Given the description of an element on the screen output the (x, y) to click on. 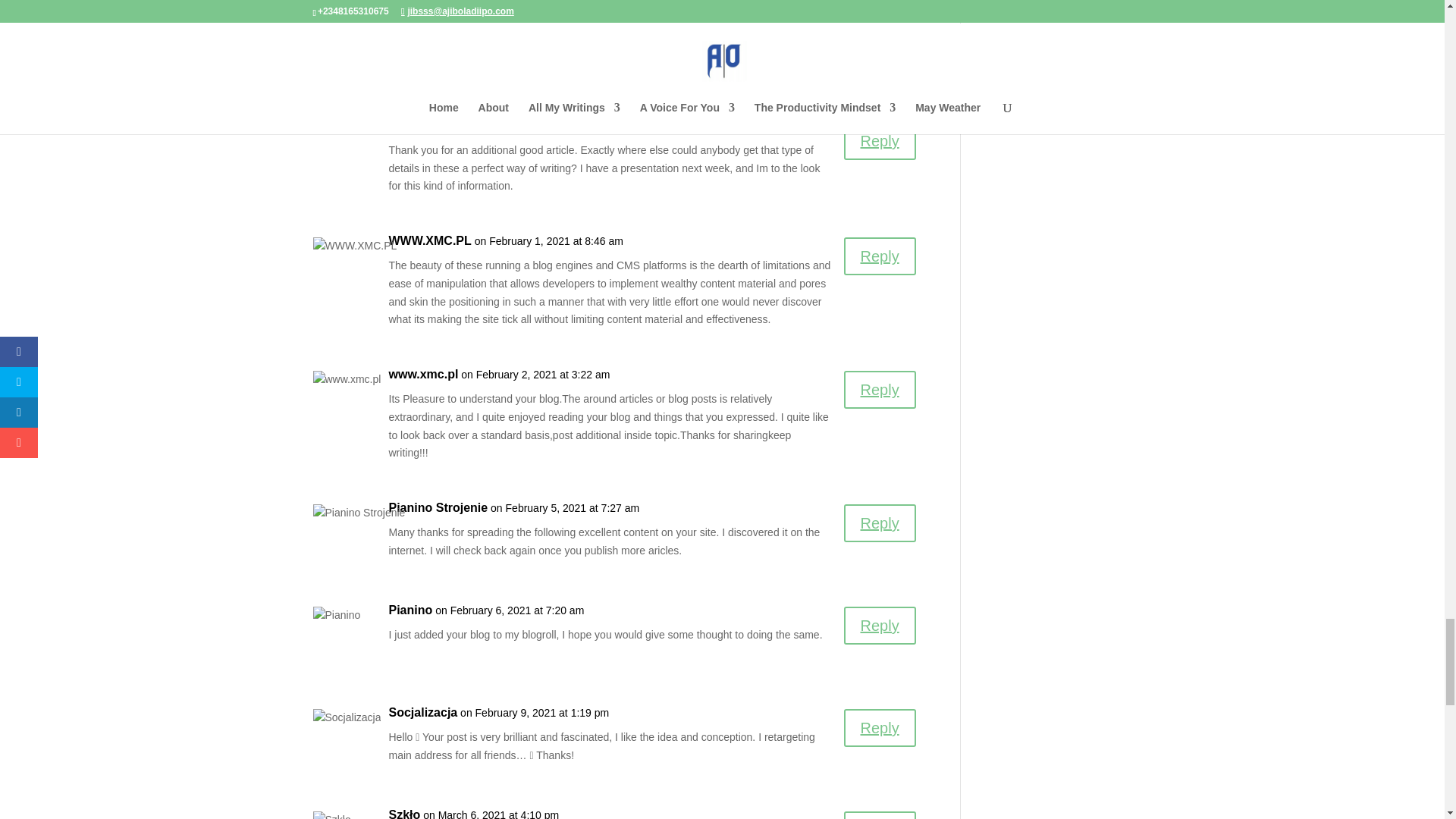
WWW.XMC.PL (429, 126)
